Given the description of an element on the screen output the (x, y) to click on. 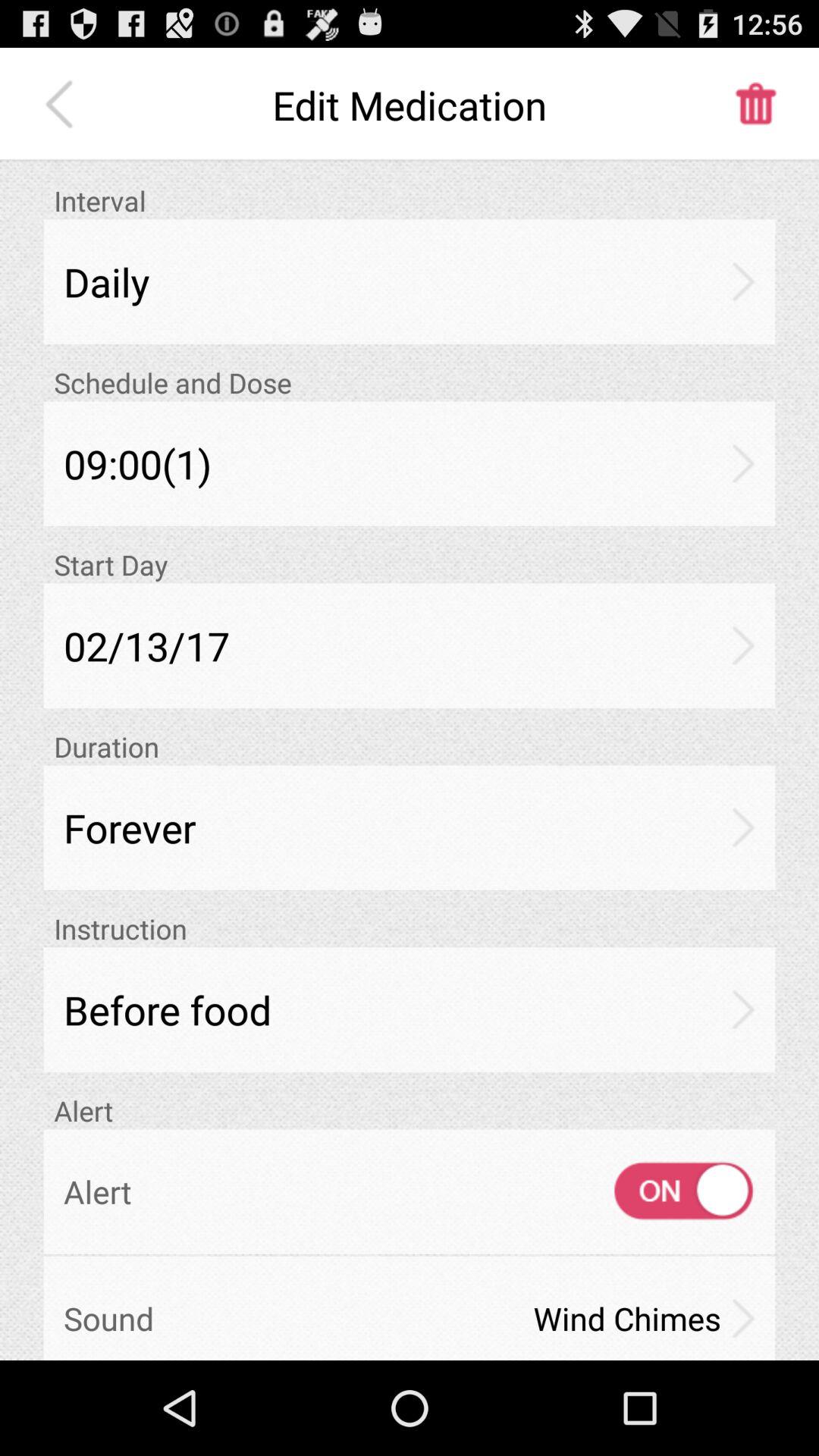
turn on item below the instruction icon (409, 1009)
